Given the description of an element on the screen output the (x, y) to click on. 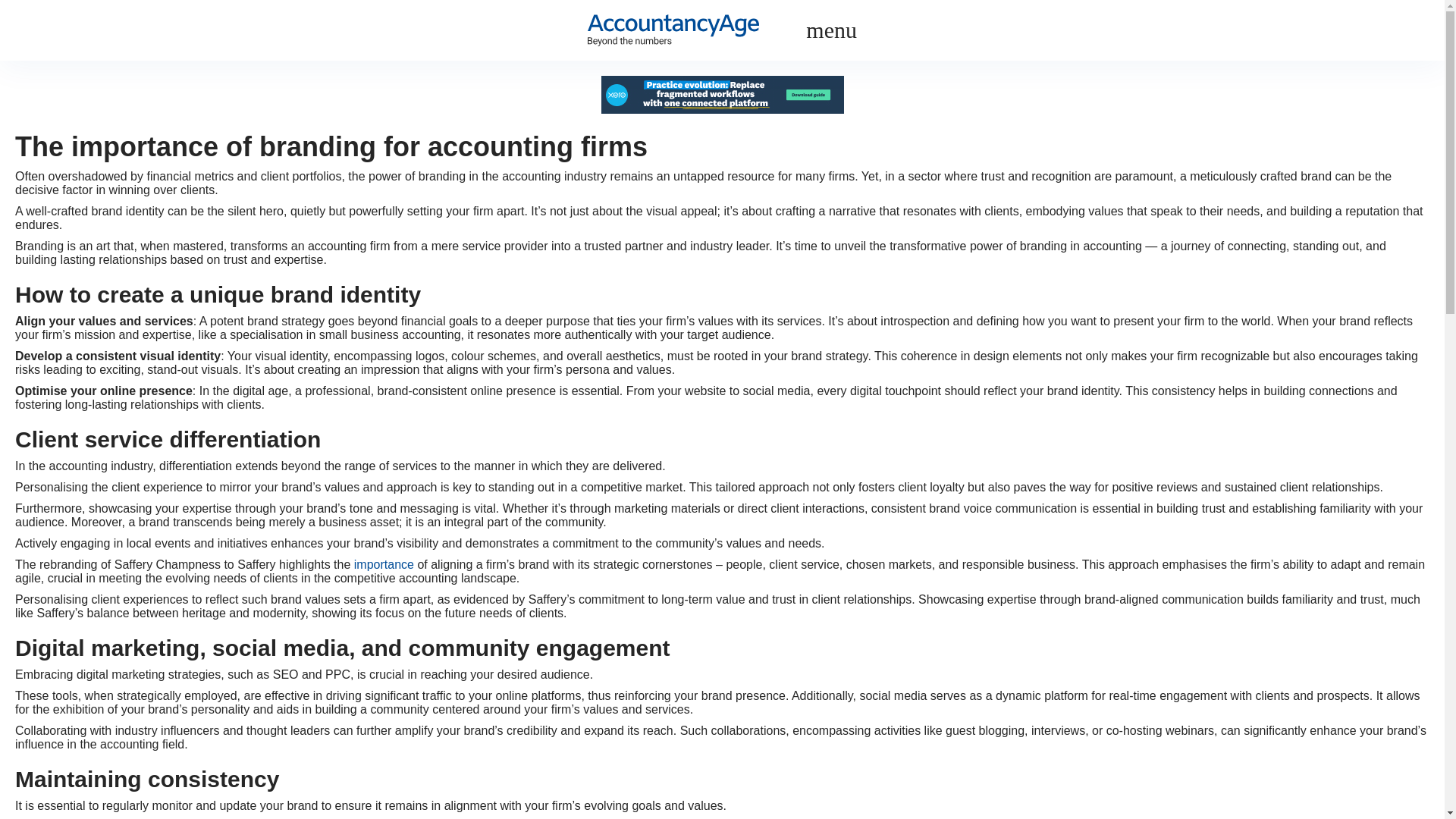
3rd party ad content (721, 94)
importance (383, 563)
menu (831, 29)
